Given the description of an element on the screen output the (x, y) to click on. 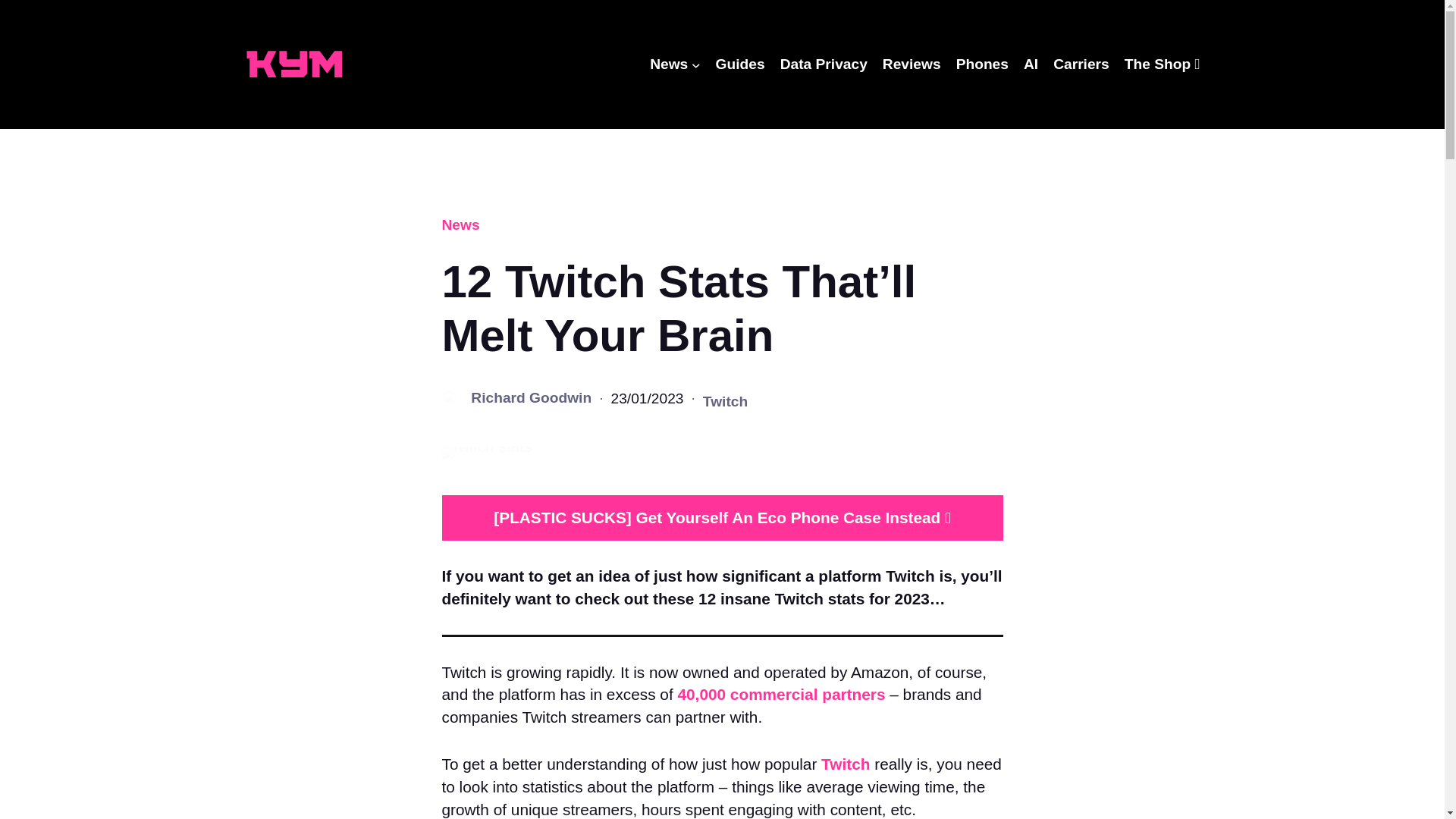
40,000 commercial partners (781, 693)
Twitch (725, 401)
News (668, 64)
Twitch (845, 764)
Carriers (1080, 64)
Richard Goodwin (530, 397)
Data Privacy (823, 64)
News (460, 224)
Reviews (911, 64)
Phones (982, 64)
Guides (740, 64)
